Given the description of an element on the screen output the (x, y) to click on. 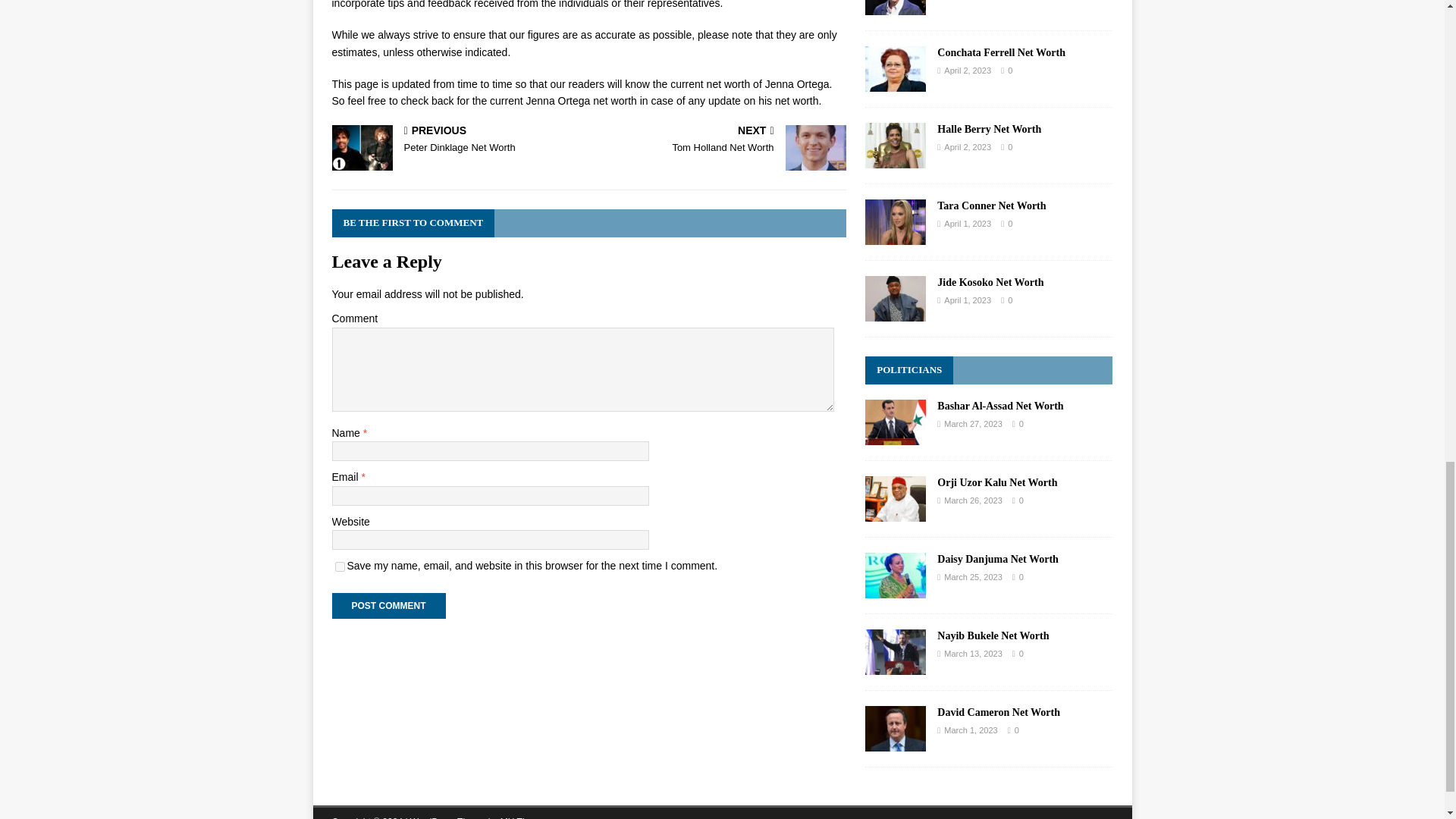
Post Comment (720, 140)
yes (388, 605)
Post Comment (457, 140)
